Given the description of an element on the screen output the (x, y) to click on. 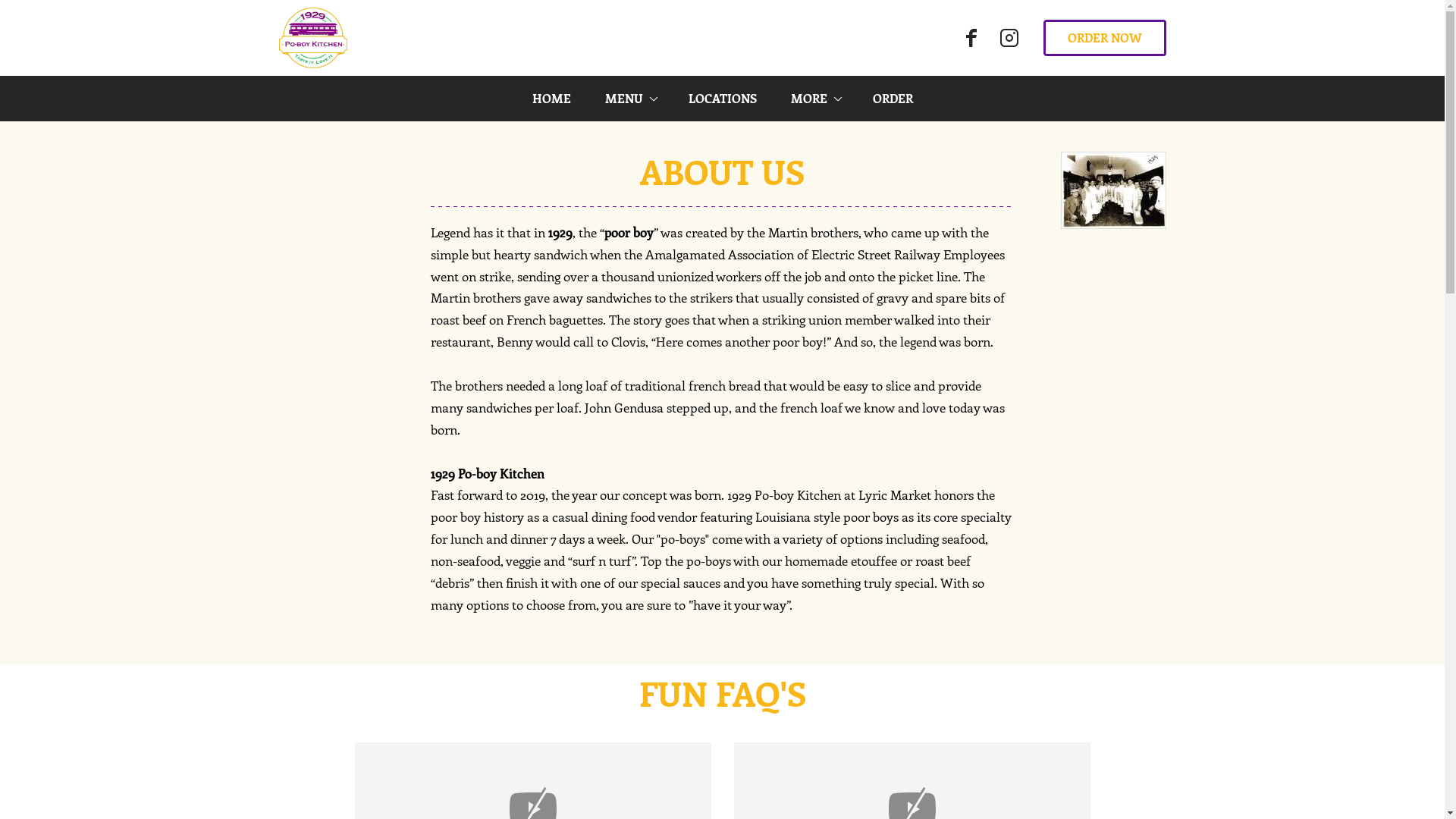
HOME Element type: text (550, 98)
MORE Element type: text (814, 98)
MENU Element type: text (629, 98)
ORDER NOW Element type: text (1104, 37)
Martin Brothers Employees Element type: hover (1112, 190)
ORDER Element type: text (892, 98)
LOCATIONS Element type: text (721, 98)
